Given the description of an element on the screen output the (x, y) to click on. 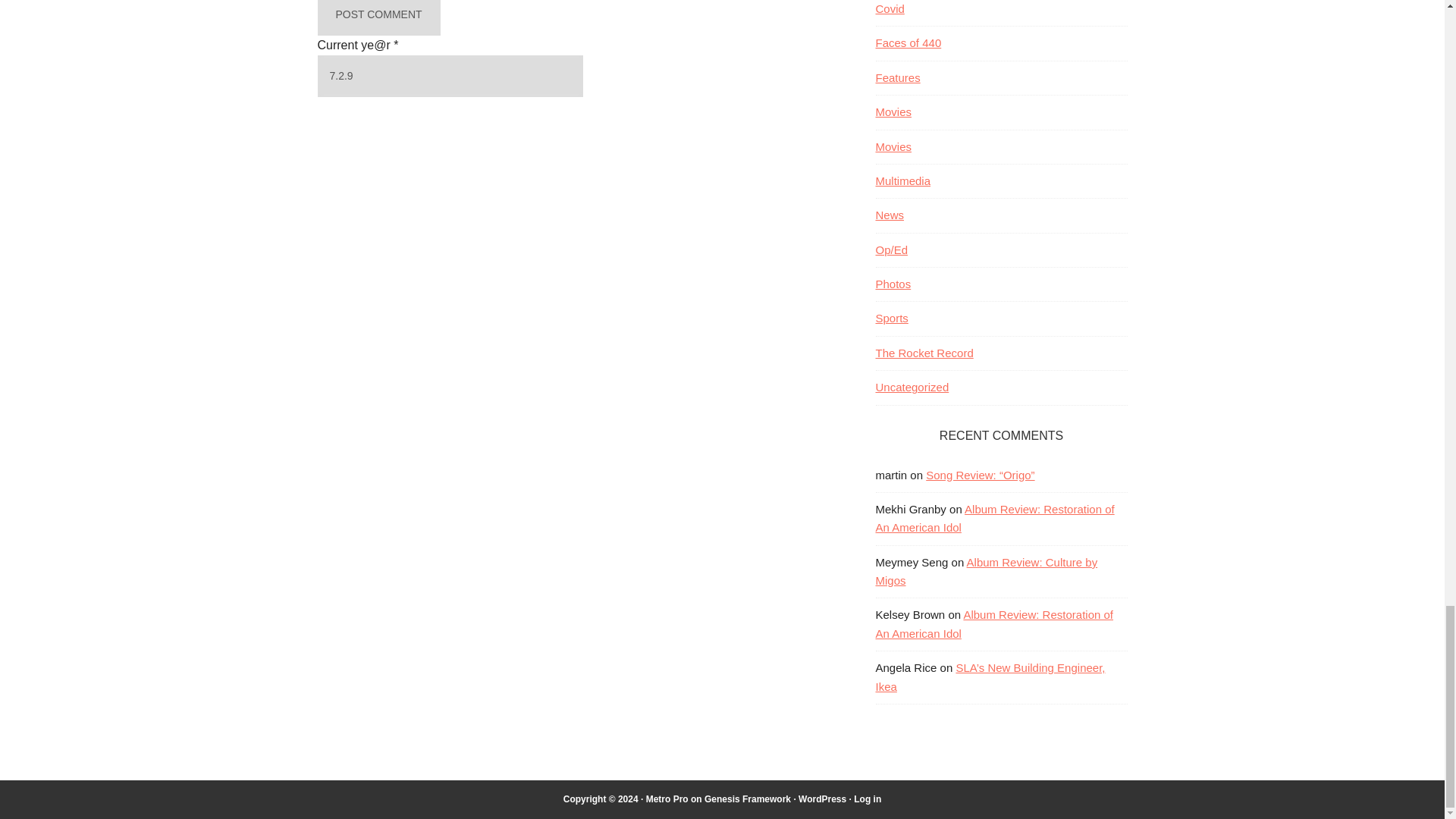
Features (897, 77)
Post Comment (378, 18)
Post Comment (378, 18)
Movies (893, 146)
7.2.9 (449, 76)
Covid (889, 8)
Movies (893, 111)
Faces of 440 (907, 42)
